Given the description of an element on the screen output the (x, y) to click on. 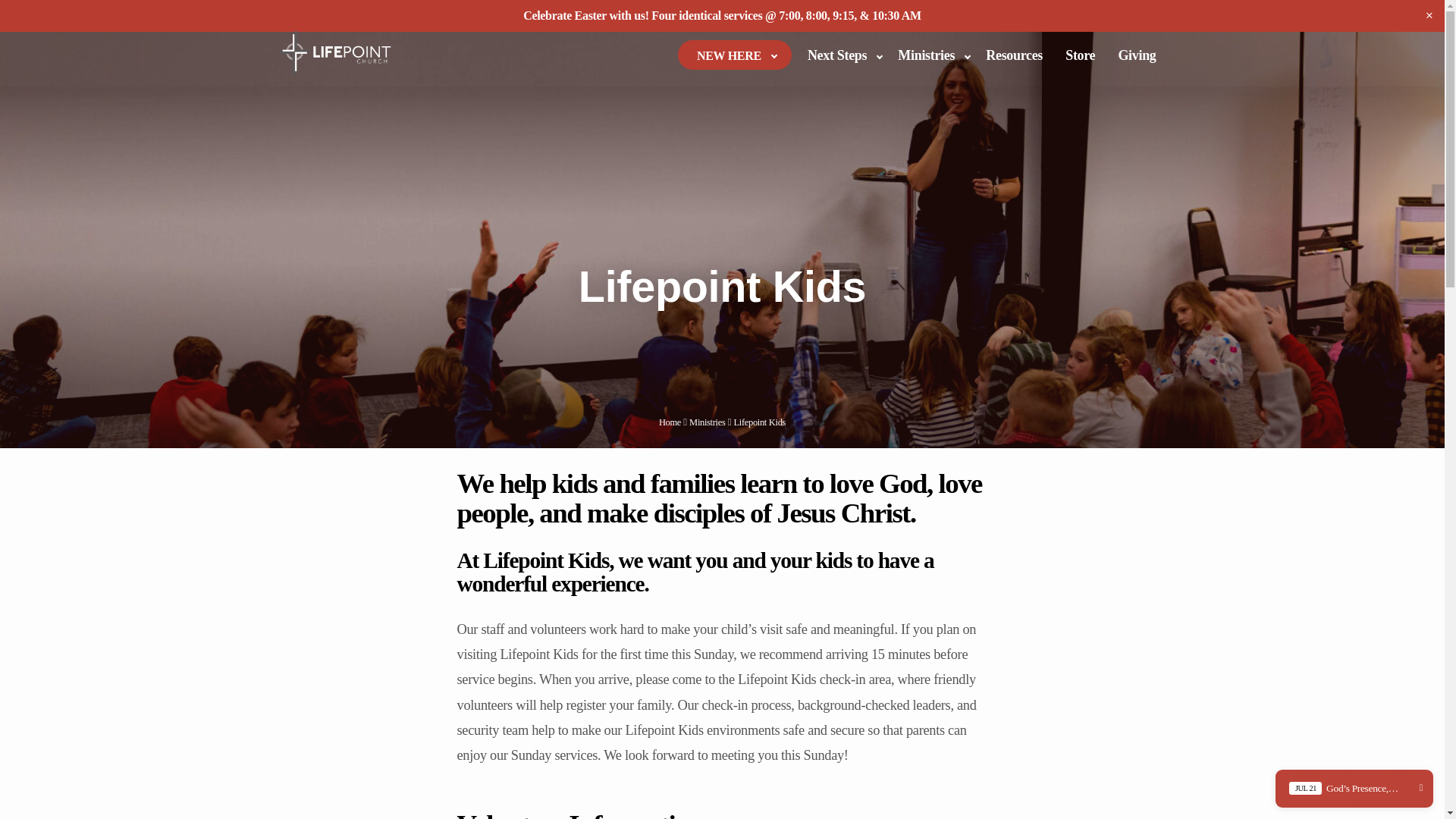
Ministries (706, 421)
Giving (1135, 57)
Home (670, 421)
Next Steps (841, 57)
Resources (1013, 57)
NEW HERE (733, 60)
Lifepoint Kids (759, 421)
Ministries (930, 57)
Store (1080, 57)
